Given the description of an element on the screen output the (x, y) to click on. 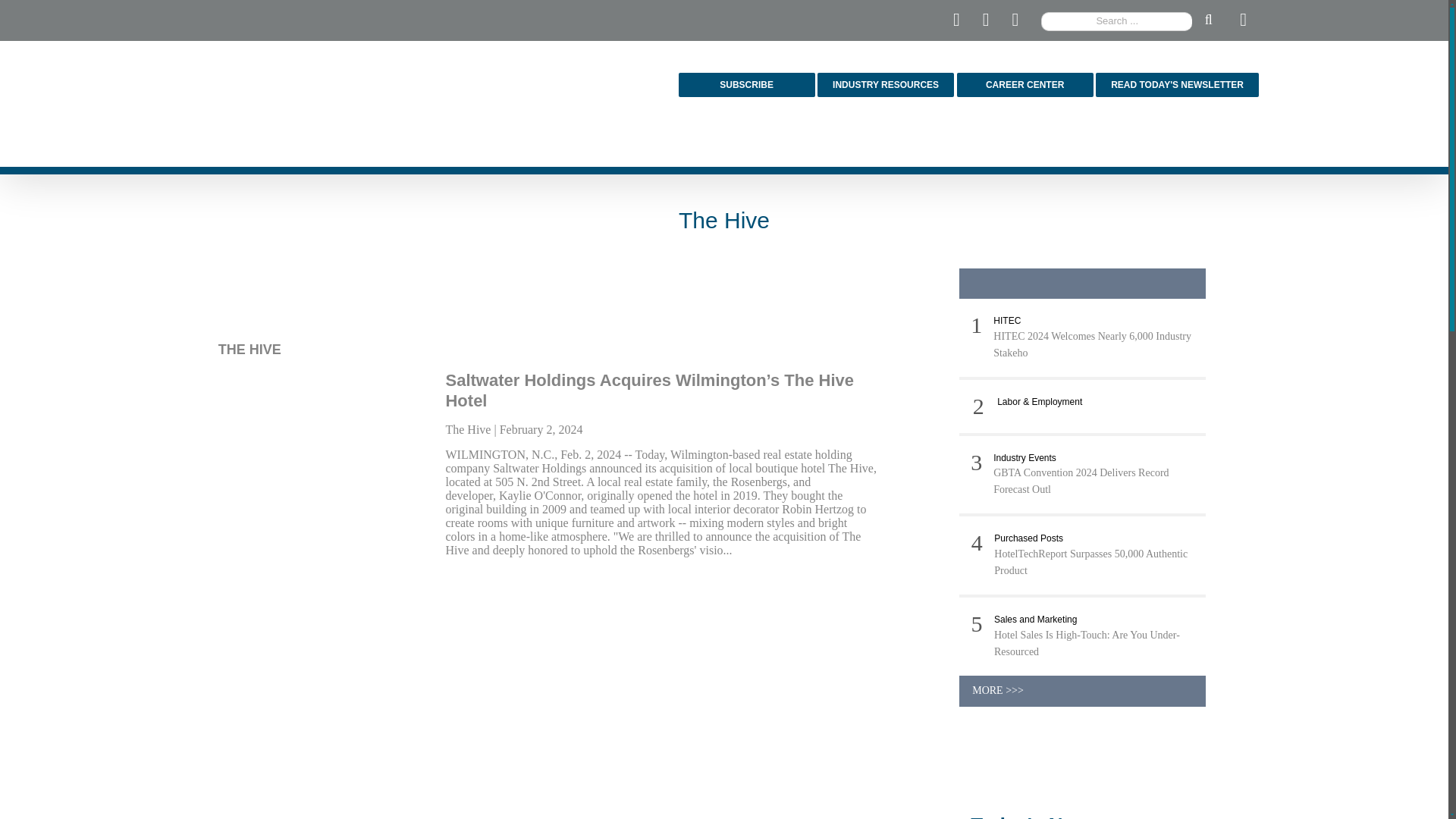
Purchased (1028, 538)
Industry (1024, 457)
HITEC (1006, 320)
Sales (1035, 619)
Labor (1039, 401)
